Given the description of an element on the screen output the (x, y) to click on. 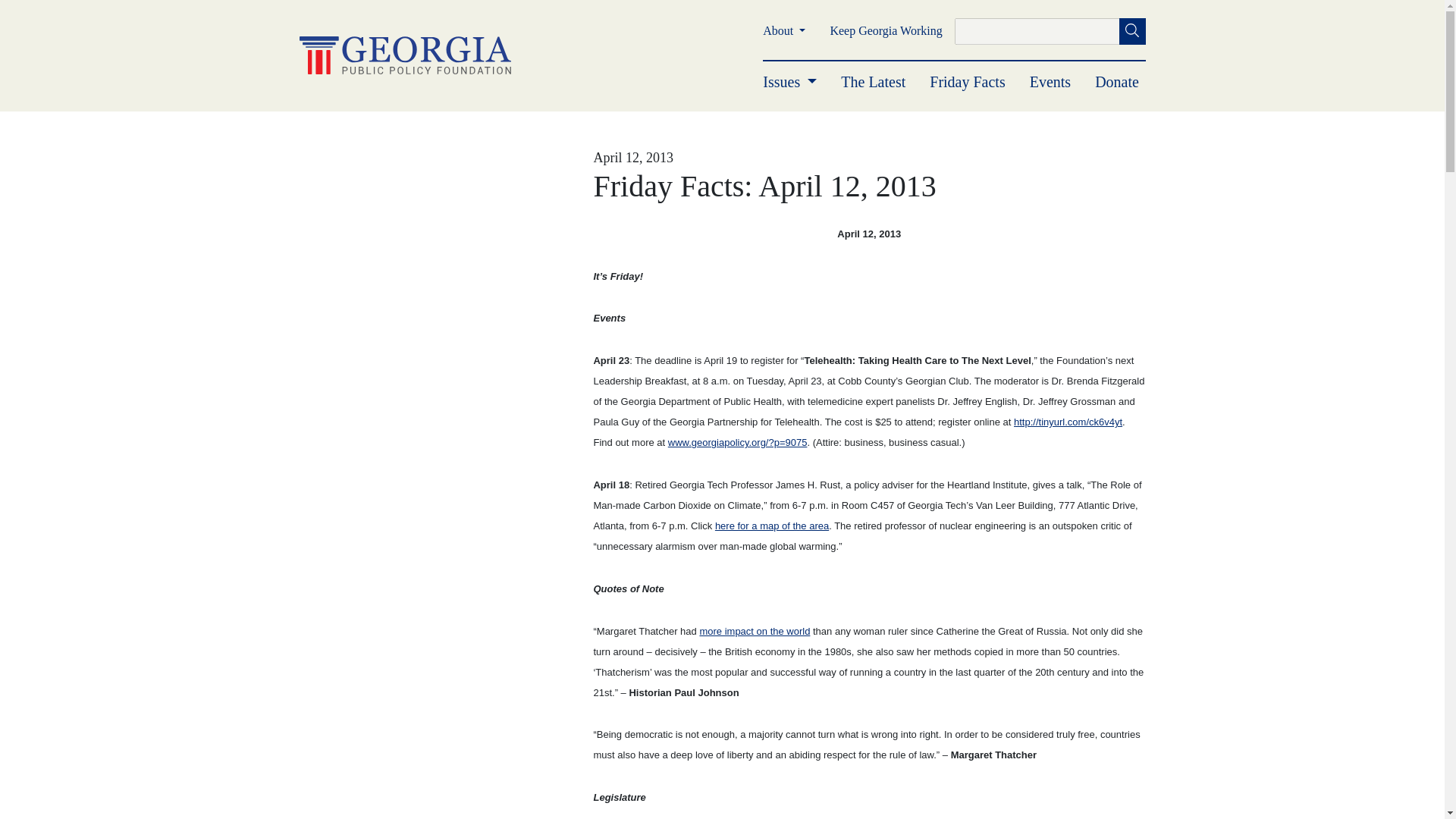
Donate (1116, 81)
Issues (789, 81)
Friday Facts (967, 81)
Events (1049, 81)
About (783, 30)
here for a map of the area (771, 525)
The Latest (873, 81)
Keep Georgia Working (885, 30)
more impact on the world (753, 631)
